Given the description of an element on the screen output the (x, y) to click on. 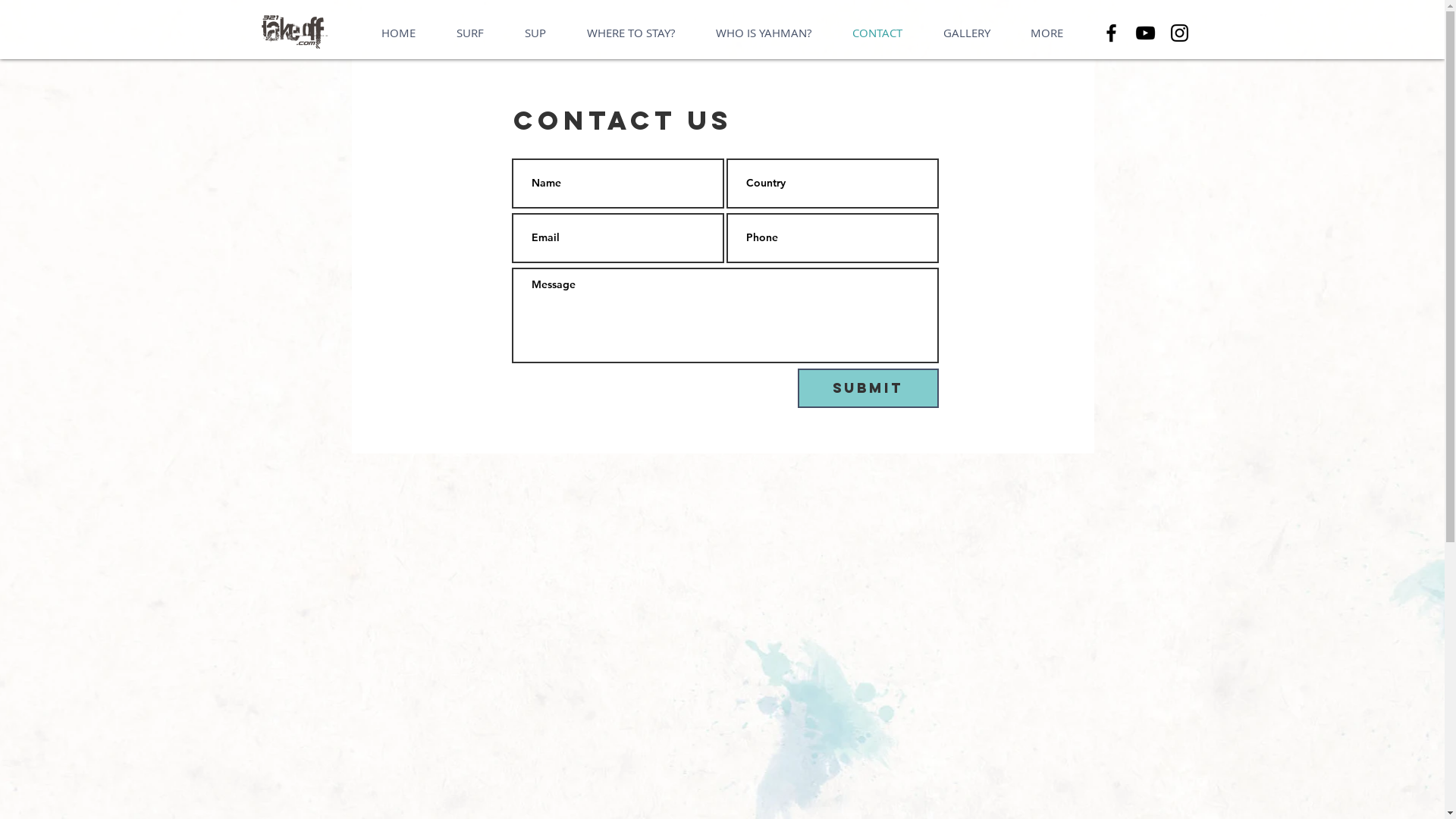
SURF Element type: text (469, 32)
GALLERY Element type: text (966, 32)
SUP Element type: text (534, 32)
WHO IS YAHMAN? Element type: text (762, 32)
Submit Element type: text (867, 387)
MORE Element type: text (1046, 32)
CONTACT Element type: text (876, 32)
WHERE TO STAY? Element type: text (629, 32)
HOME Element type: text (398, 32)
